Given the description of an element on the screen output the (x, y) to click on. 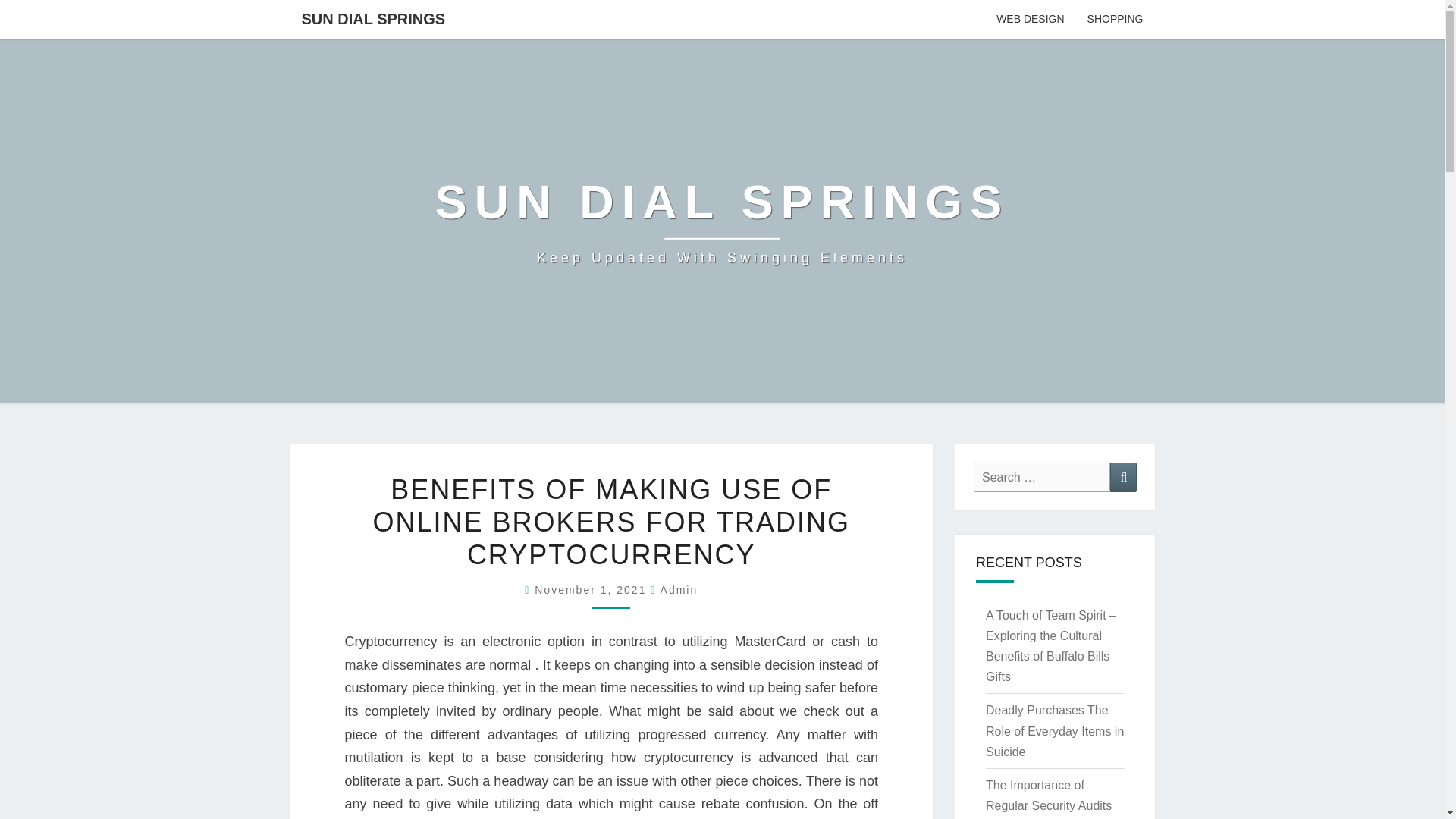
Deadly Purchases The Role of Everyday Items in Suicide (1054, 730)
View all posts by admin (679, 589)
Sun Dial Springs (722, 221)
SHOPPING (1114, 19)
WEB DESIGN (1030, 19)
November 1, 2021 (722, 221)
Search (592, 589)
SUN DIAL SPRINGS (1123, 477)
Search for: (373, 18)
5:01 am (1041, 477)
Admin (592, 589)
